Given the description of an element on the screen output the (x, y) to click on. 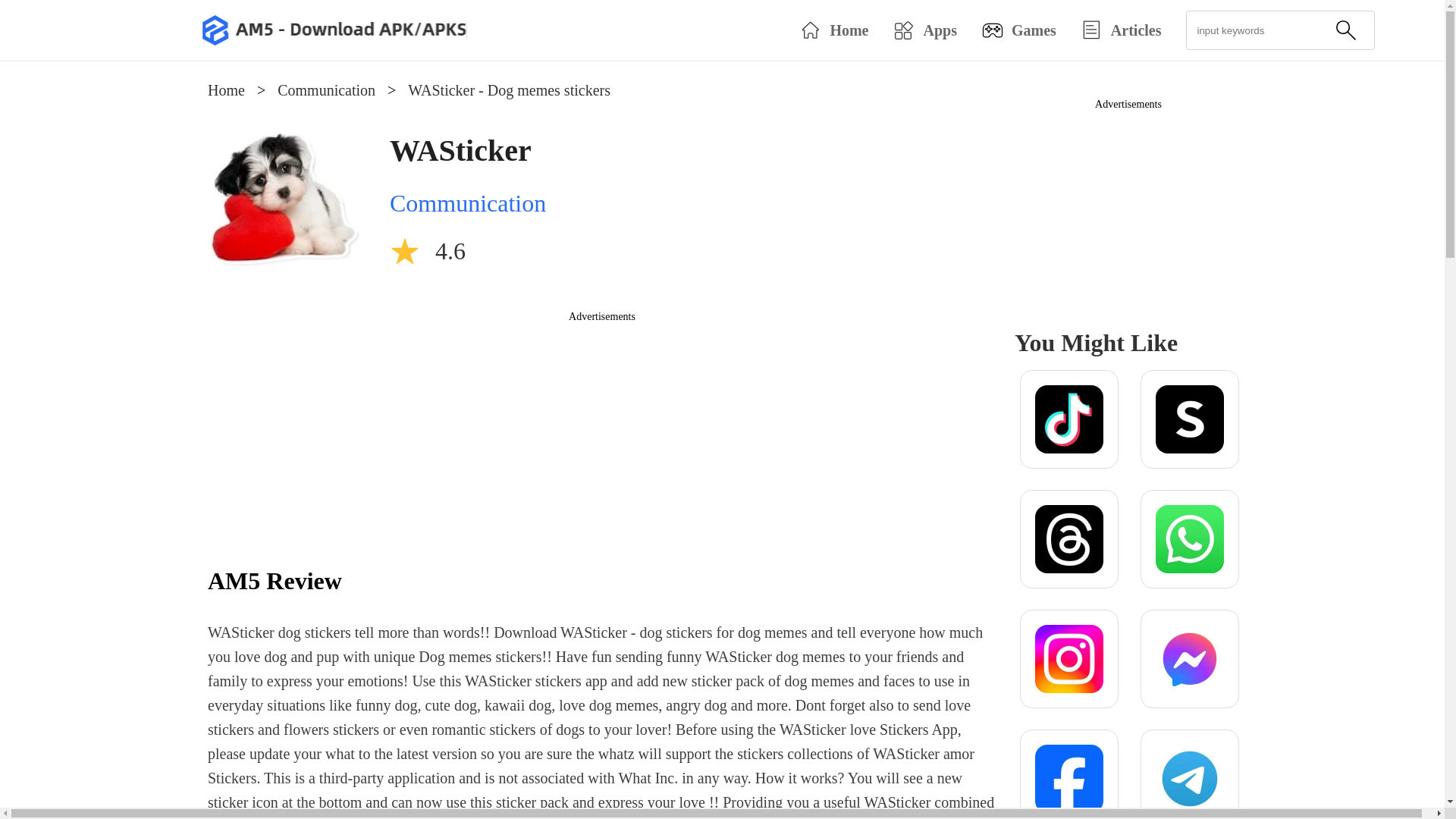
Communication (468, 203)
Games (1019, 30)
search (1345, 30)
Articles (1120, 30)
Communication (326, 89)
Home (226, 89)
WASticker - Dog memes stickers (508, 89)
Home (833, 30)
search (1345, 30)
Apps (924, 30)
